Given the description of an element on the screen output the (x, y) to click on. 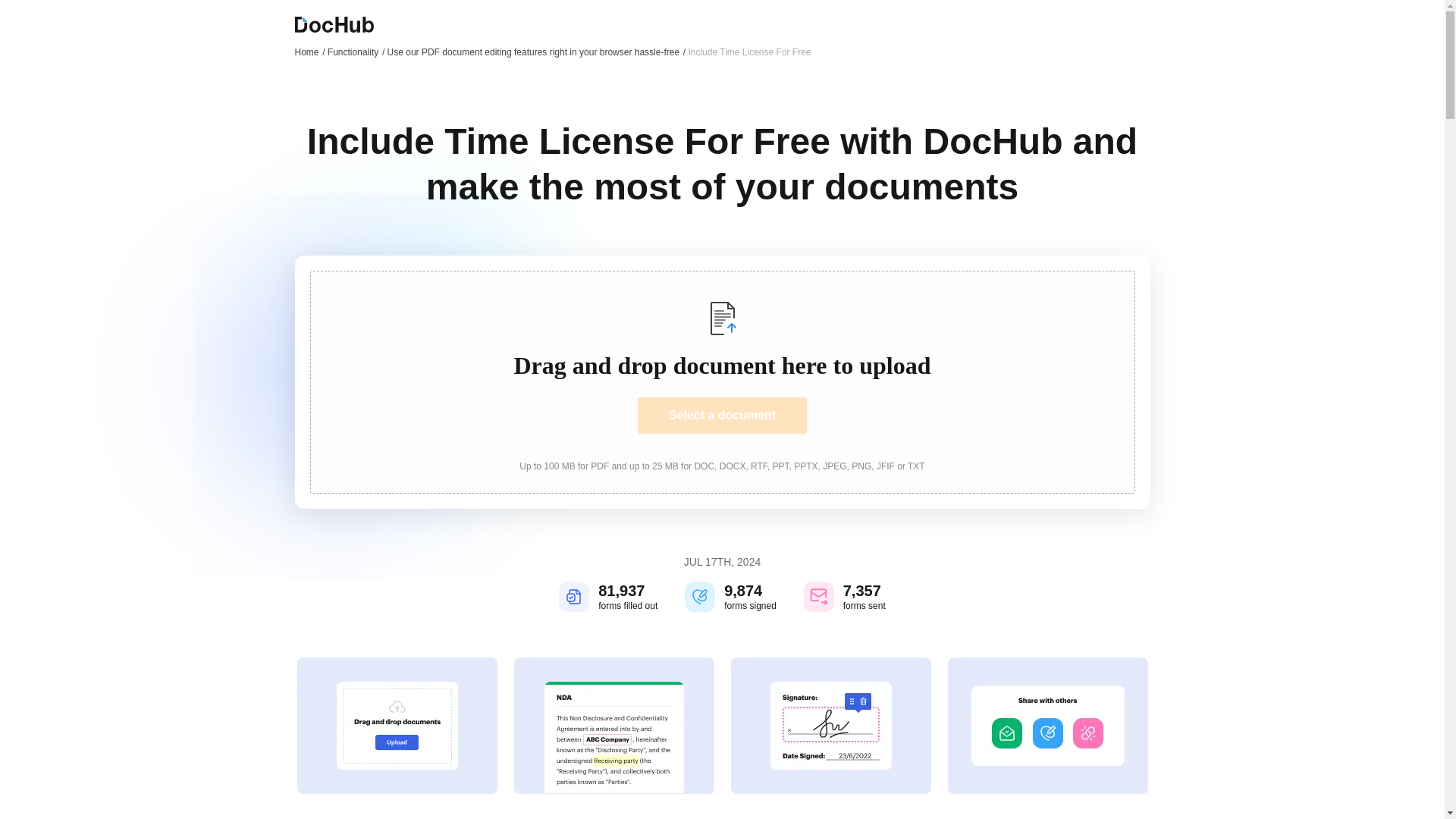
Functionality (355, 51)
Home (309, 51)
Select a document (721, 415)
